Given the description of an element on the screen output the (x, y) to click on. 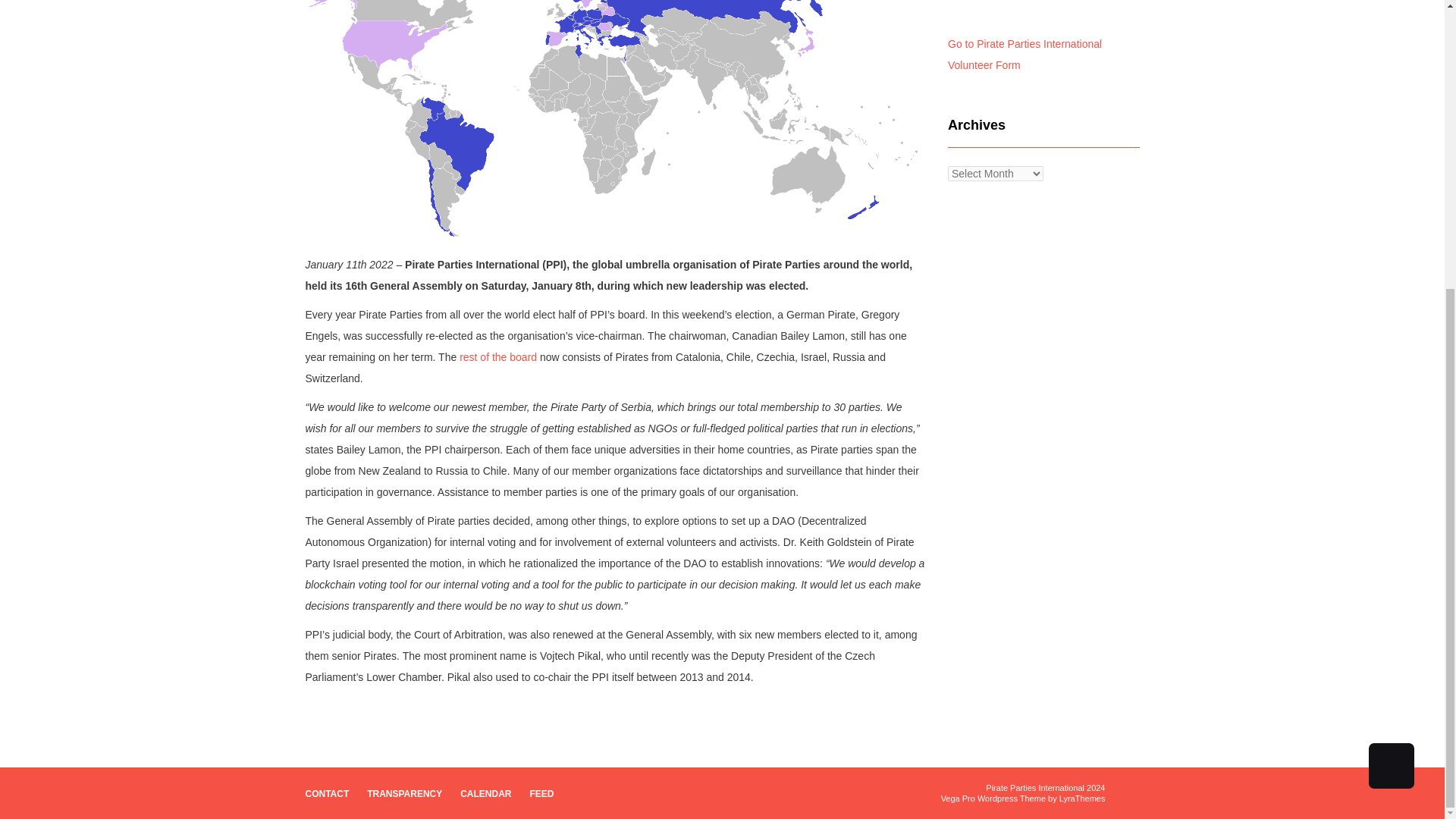
CALENDAR (485, 793)
TRANSPARENCY (404, 793)
CONTACT (326, 793)
rest of the board (498, 357)
Vega Pro Wordpress Theme (992, 798)
FEED (541, 793)
Go to Pirate Parties International Volunteer Form (1024, 54)
